Given the description of an element on the screen output the (x, y) to click on. 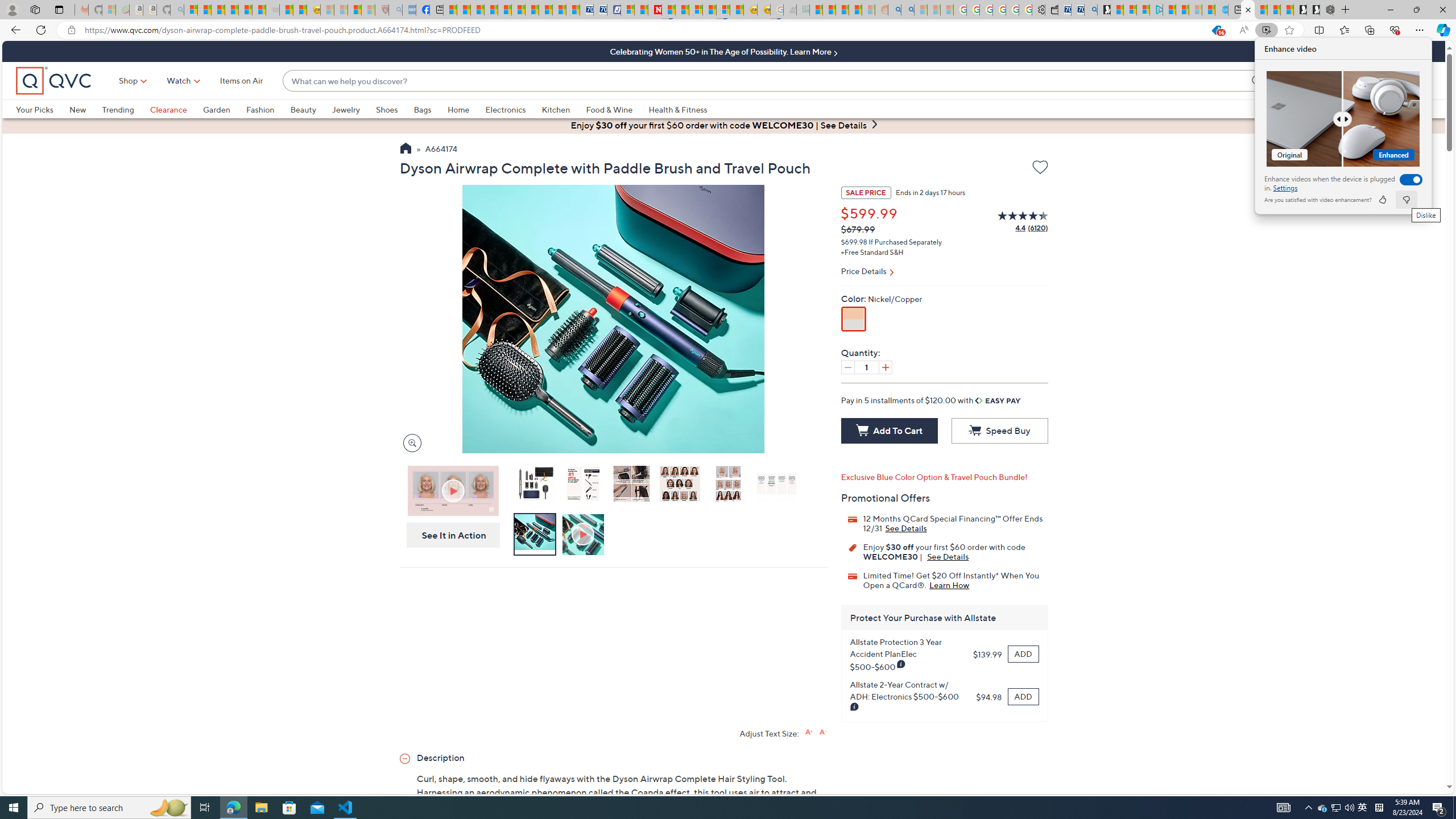
Student Loan Update: Forgiveness Program Ends This Month (855, 9)
Increase font size (808, 731)
Clearance (168, 109)
Dyson Airwrap Complete with Paddle Brush and Travel Pouch (534, 485)
Magnify Image (411, 442)
